Given the description of an element on the screen output the (x, y) to click on. 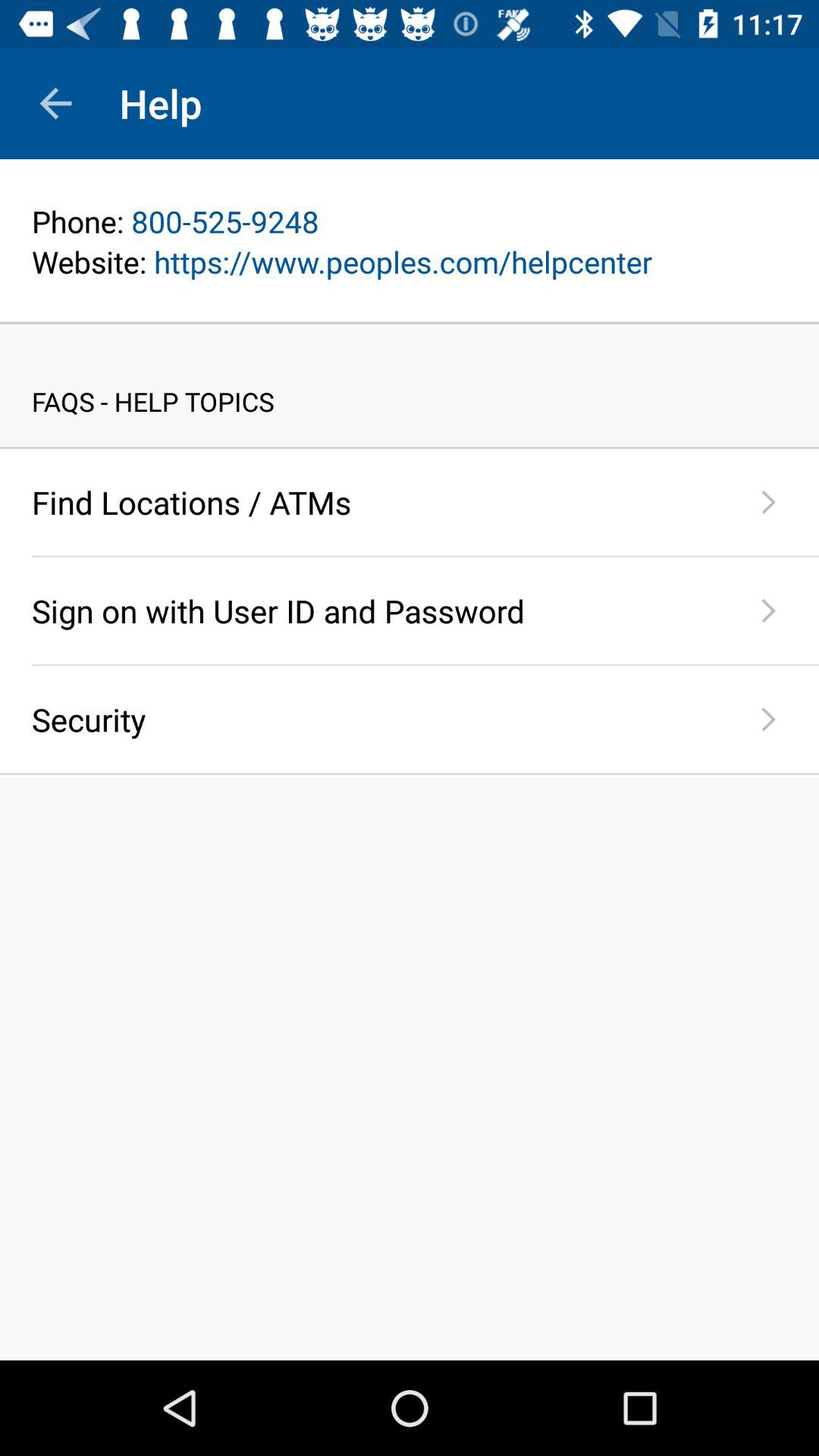
turn off the icon to the left of help (55, 103)
